Given the description of an element on the screen output the (x, y) to click on. 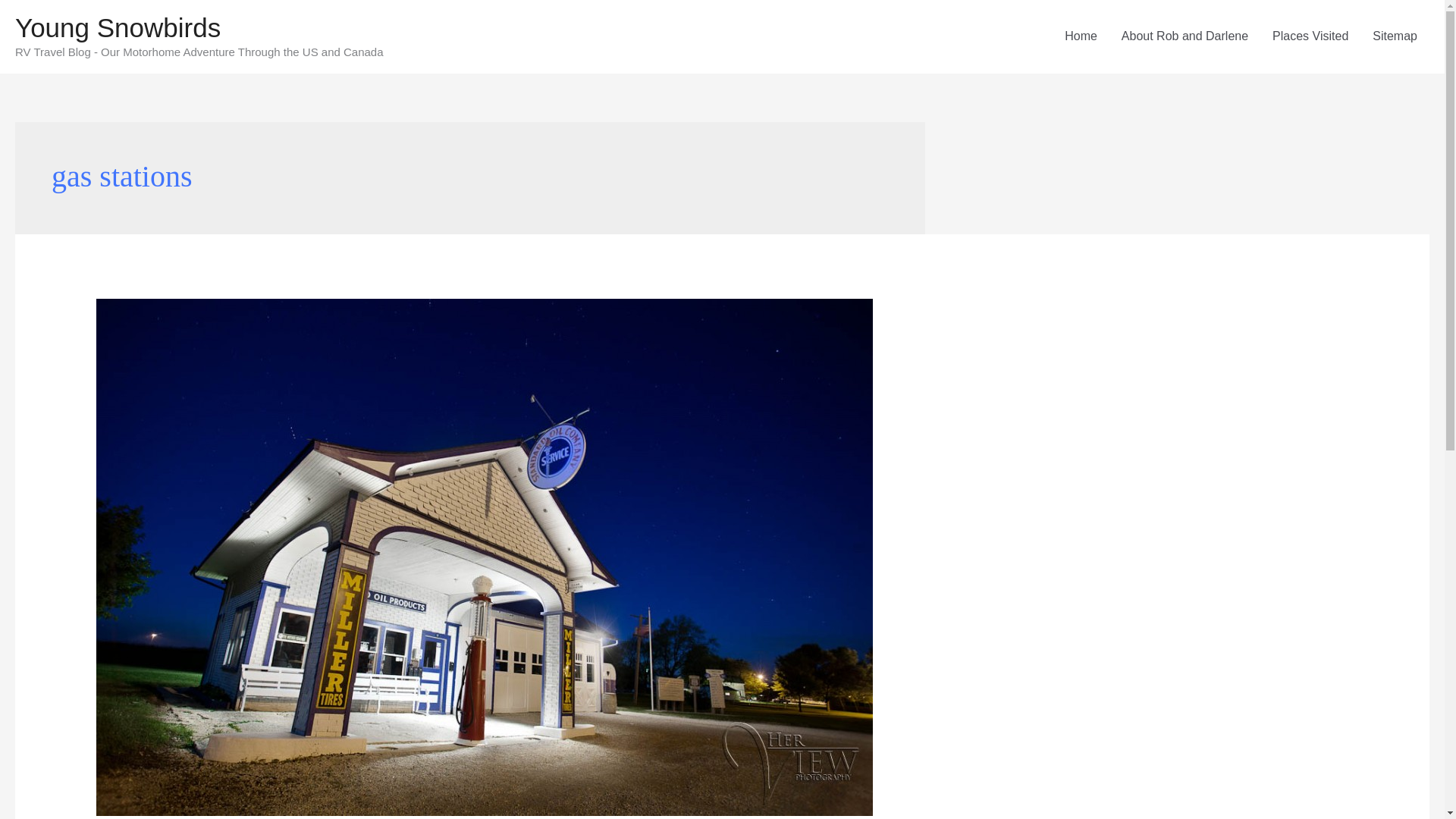
Young Snowbirds (117, 27)
Places Visited (1309, 36)
Home (1080, 36)
Sitemap (1394, 36)
About Rob and Darlene (1184, 36)
